Given the description of an element on the screen output the (x, y) to click on. 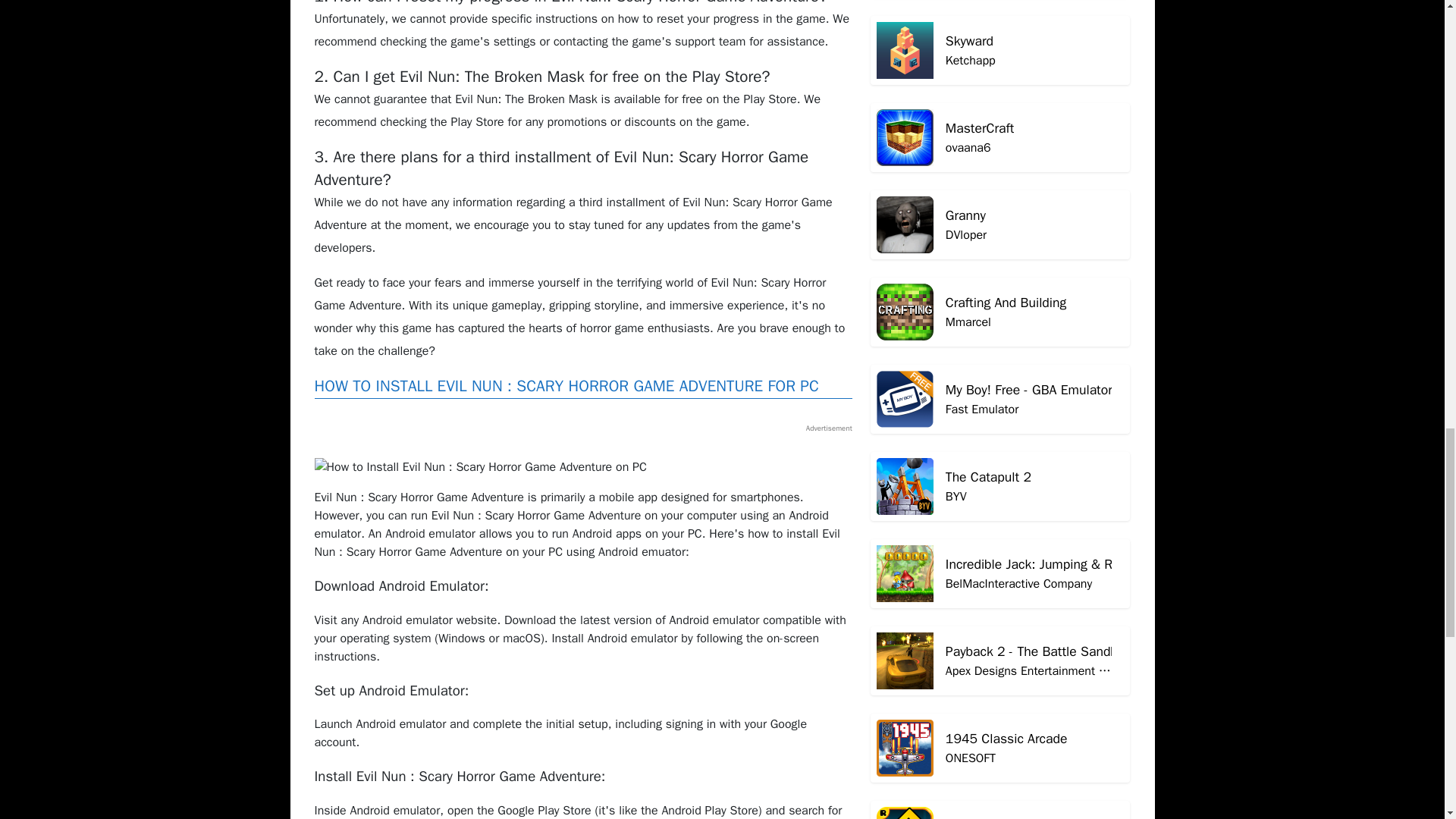
How to Install Evil Nun : Scary Horror Game Adventure on PC (1000, 63)
